Given the description of an element on the screen output the (x, y) to click on. 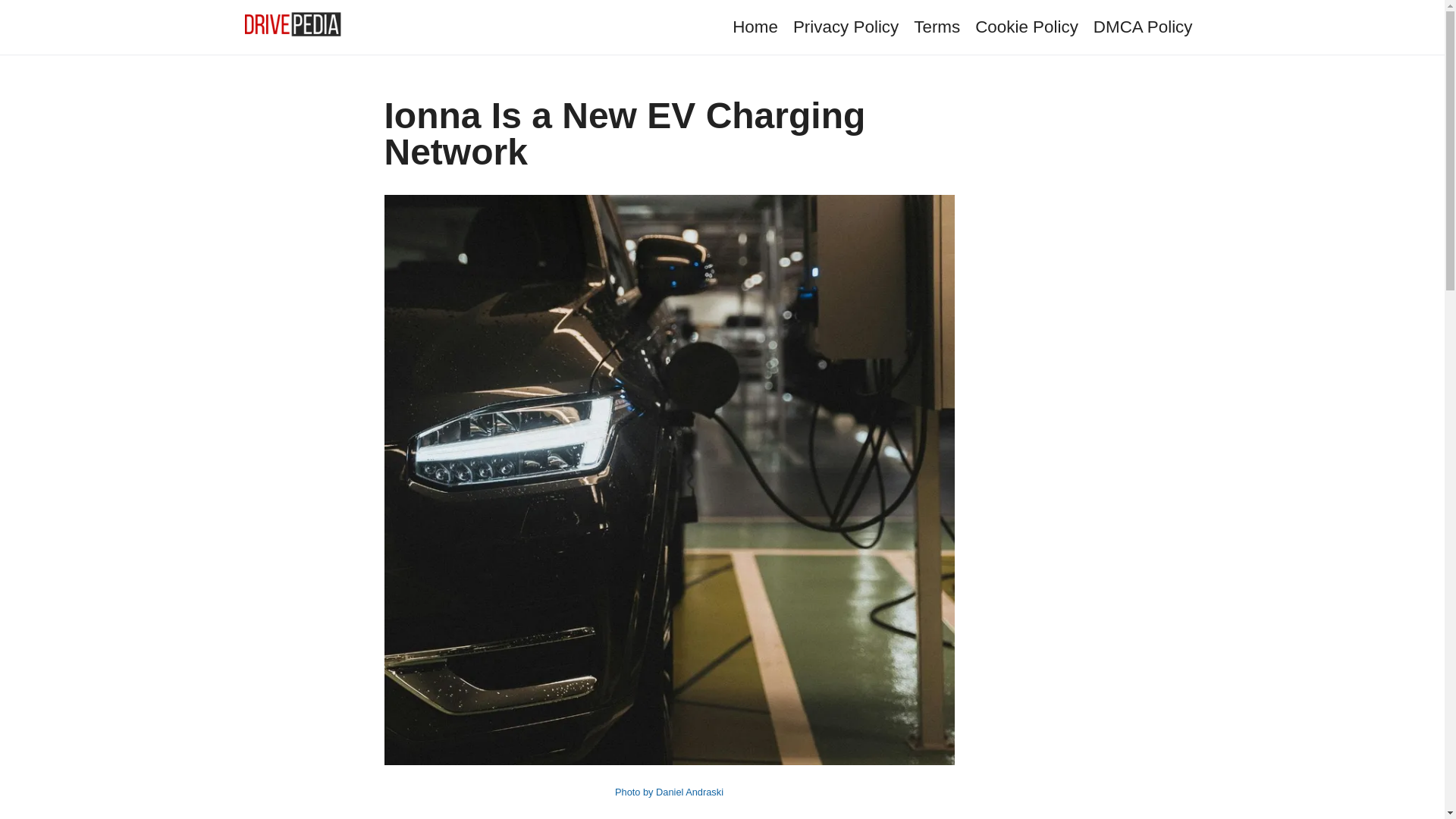
Privacy Policy (845, 26)
Cookie Policy (1026, 26)
DMCA Policy (1142, 26)
Home (754, 26)
Terms (936, 26)
Photo by Daniel Andraski (668, 791)
